Given the description of an element on the screen output the (x, y) to click on. 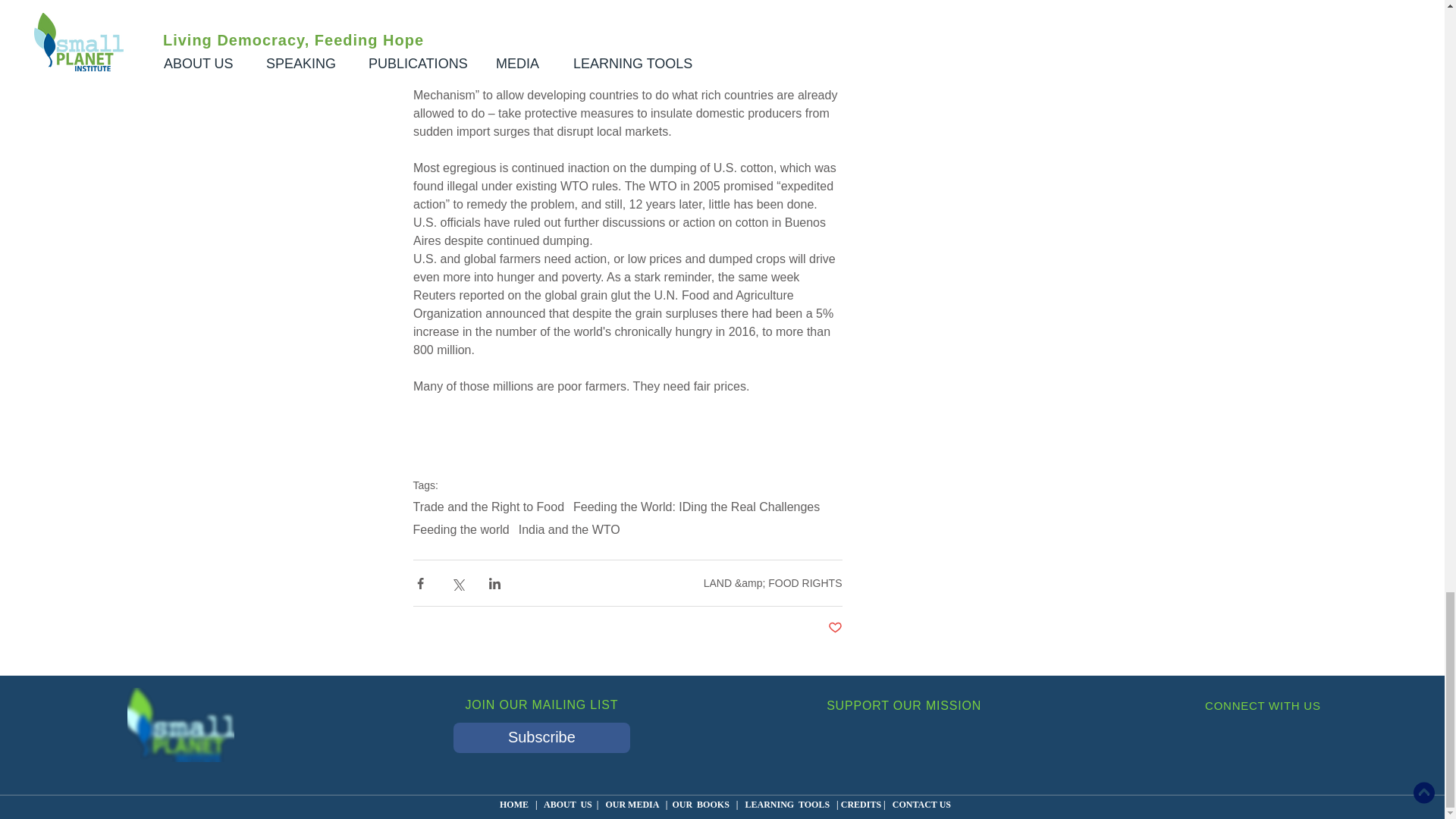
India and the WTO (569, 530)
Post not marked as liked (835, 627)
Feeding the World: IDing the Real Challenges (696, 507)
Trade and the Right to Food (488, 507)
Feeding the world (460, 530)
